Given the description of an element on the screen output the (x, y) to click on. 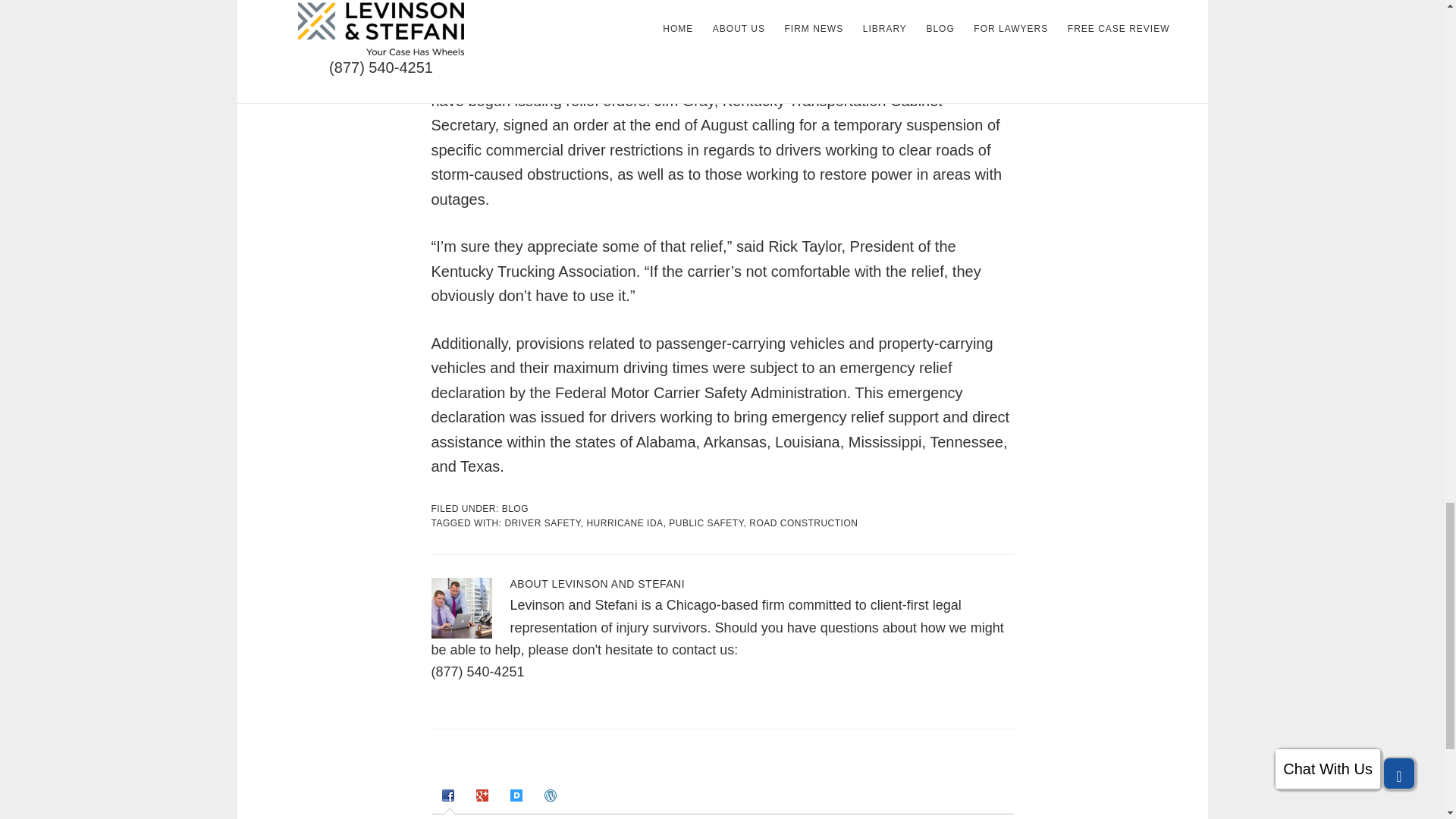
ROAD CONSTRUCTION (803, 522)
BLOG (515, 508)
PUBLIC SAFETY (705, 522)
DRIVER SAFETY (541, 522)
HURRICANE IDA (624, 522)
